Given the description of an element on the screen output the (x, y) to click on. 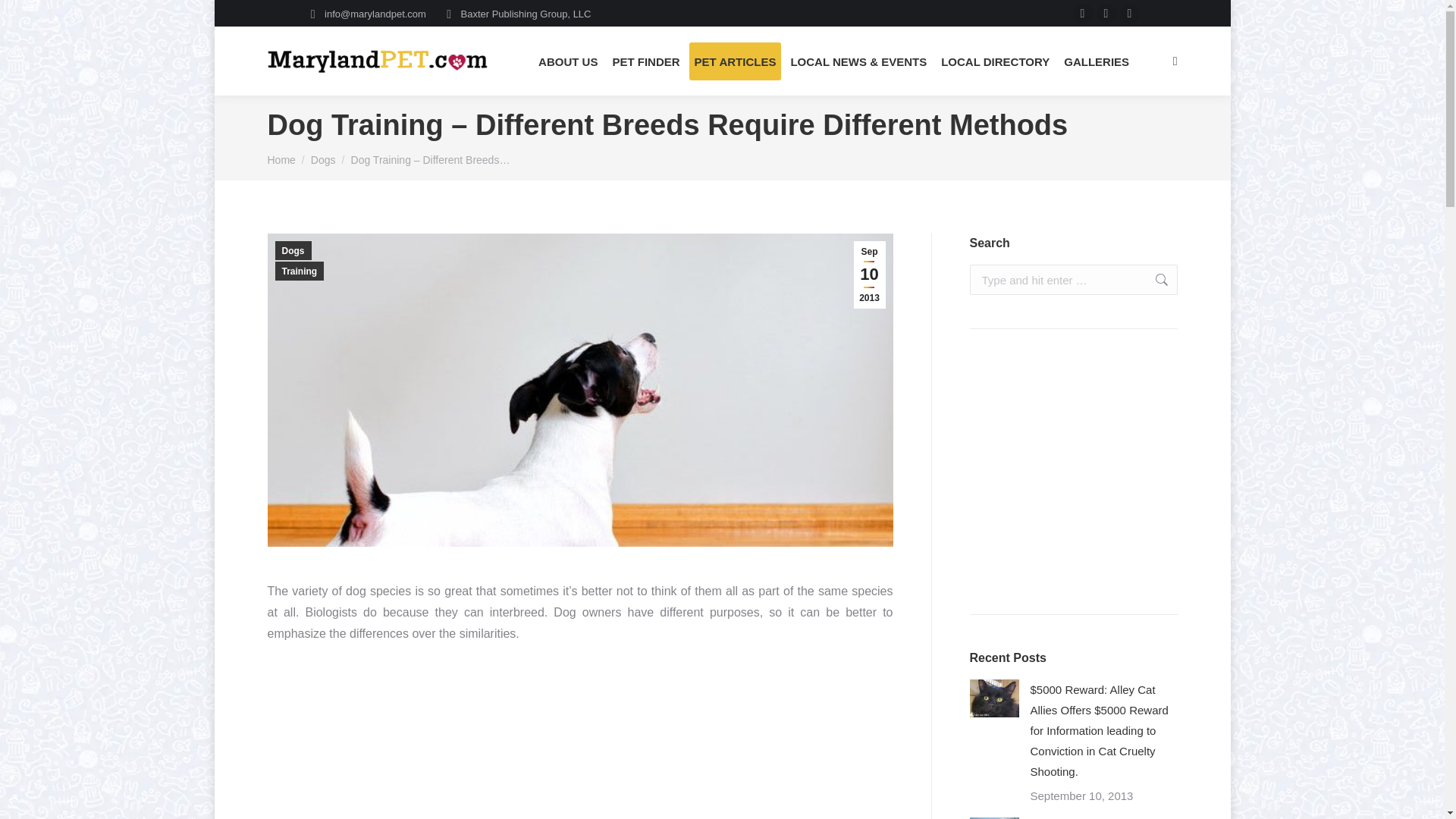
Facebook page opens in new window (1083, 13)
X page opens in new window (1106, 13)
ABOUT US (567, 61)
Go! (1153, 279)
Go! (1153, 279)
Pinterest page opens in new window (1129, 13)
PET FINDER (645, 61)
Dogs (323, 159)
PET ARTICLES (734, 61)
Facebook page opens in new window (1083, 13)
Pinterest page opens in new window (1129, 13)
3:10 pm (869, 274)
X page opens in new window (1106, 13)
Home (280, 159)
